Given the description of an element on the screen output the (x, y) to click on. 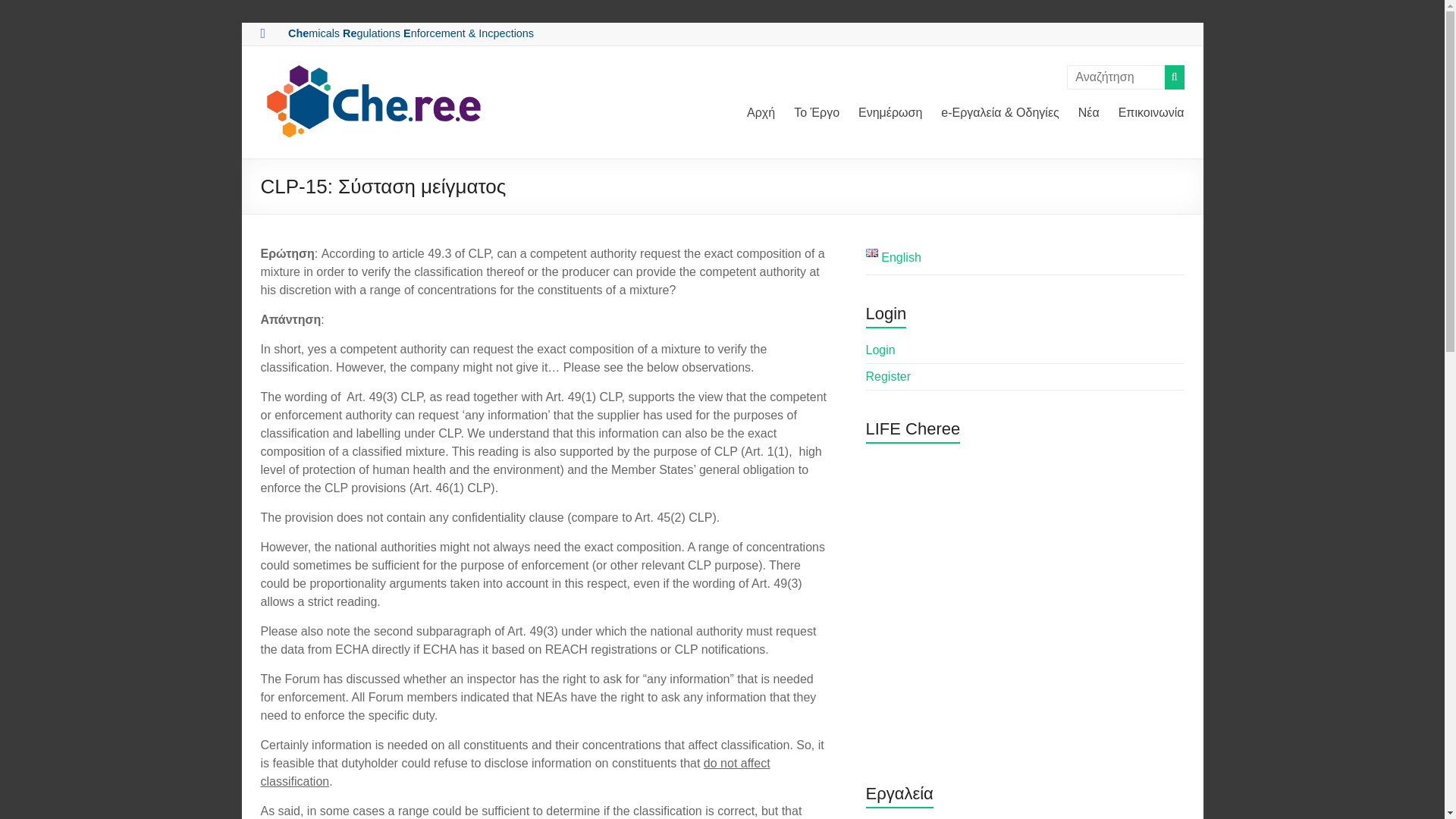
Login (880, 349)
English (893, 256)
YouTube video player (1025, 601)
Register (888, 376)
